Given the description of an element on the screen output the (x, y) to click on. 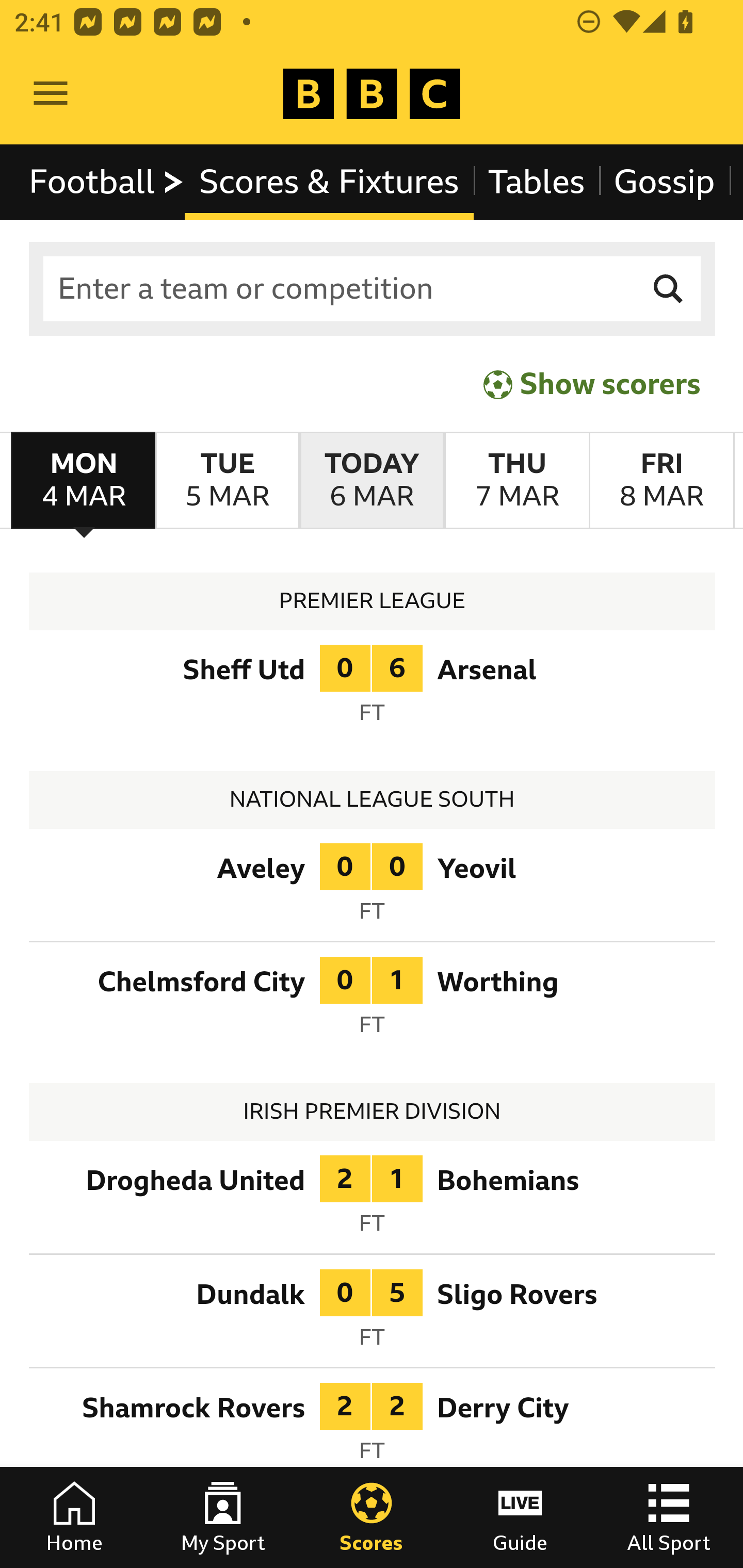
Open Menu (50, 93)
Football  (106, 181)
Scores & Fixtures (329, 181)
Tables (536, 181)
Gossip (664, 181)
Search (669, 289)
Show scorers (591, 383)
TuesdayMarch 5th Tuesday March 5th (227, 480)
TodayMarch 6th Today March 6th (371, 480)
ThursdayMarch 7th Thursday March 7th (516, 480)
FridayMarch 8th Friday March 8th (661, 480)
68399653 Sheffield United 0 Arsenal 6 Full Time (372, 689)
Home (74, 1517)
My Sport (222, 1517)
Guide (519, 1517)
All Sport (668, 1517)
